Given the description of an element on the screen output the (x, y) to click on. 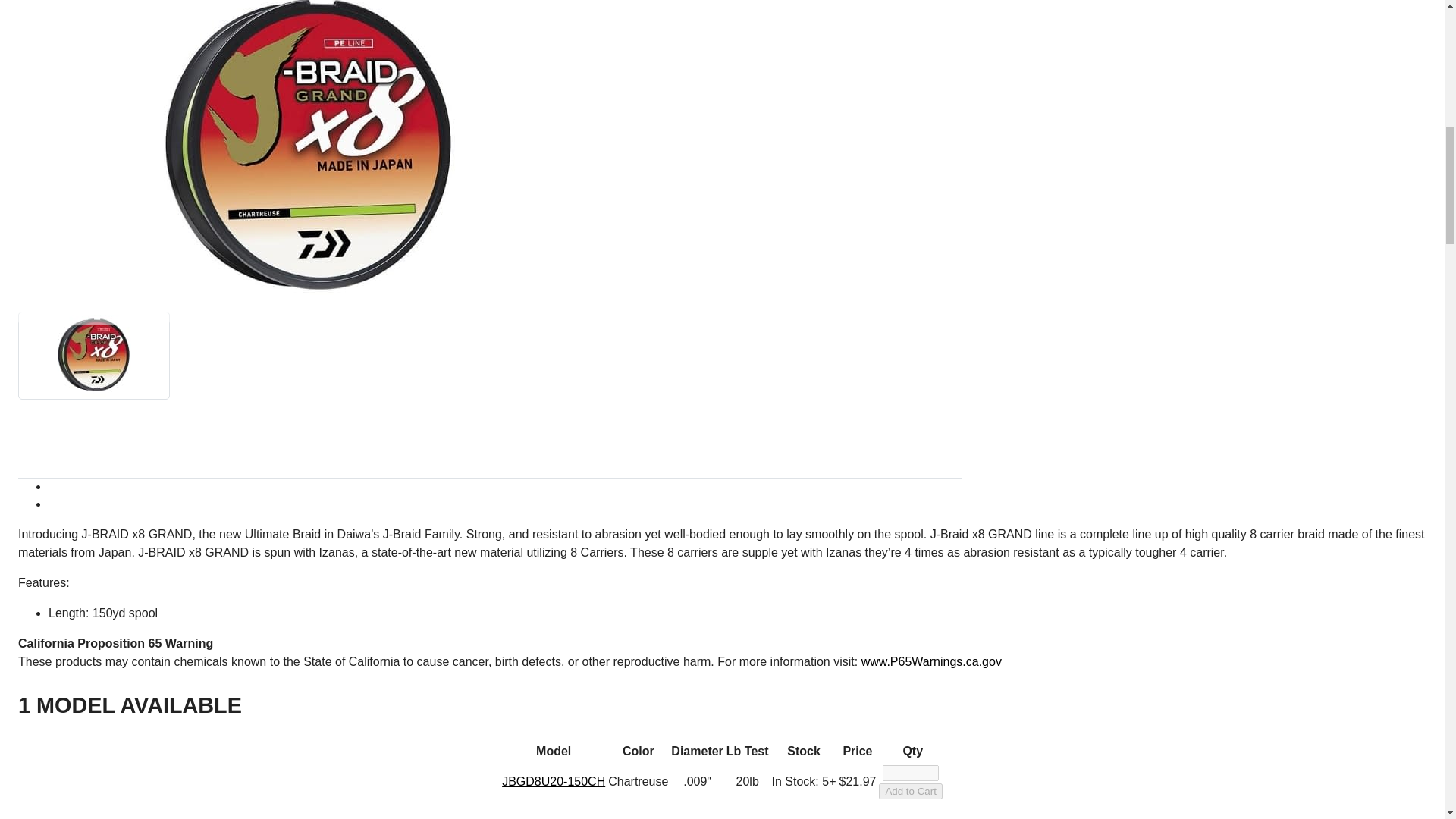
Add to Cart (910, 790)
